Given the description of an element on the screen output the (x, y) to click on. 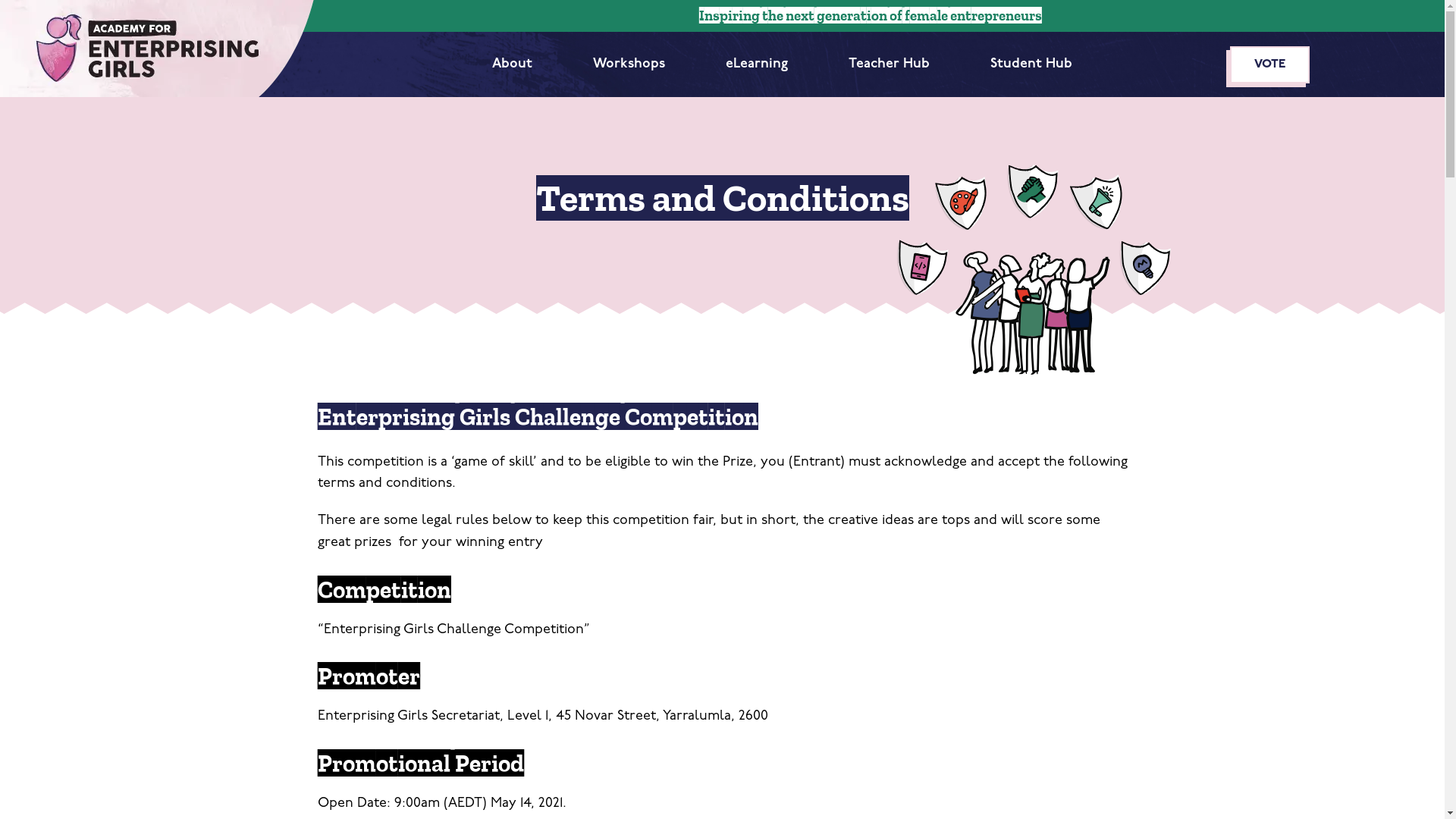
Student Hub Element type: text (1031, 64)
Workshops Element type: text (629, 64)
About Element type: text (512, 64)
eLearning Element type: text (756, 64)
VOTE Element type: text (1269, 63)
Skip to content Element type: text (15, 7)
Academy For Enterprising Girls Element type: hover (156, 48)
Teacher Hub Element type: text (888, 64)
